Given the description of an element on the screen output the (x, y) to click on. 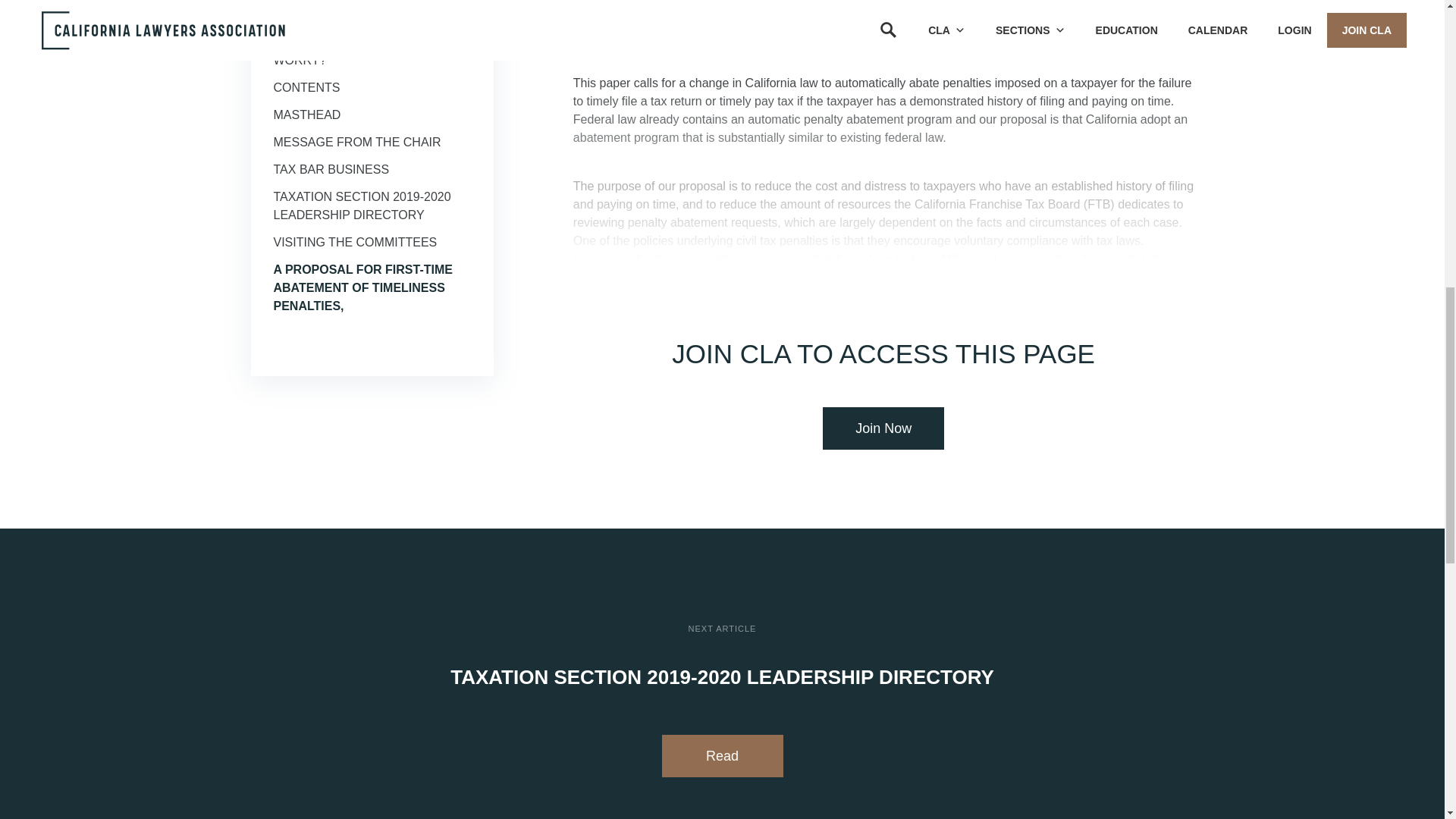
Contents (306, 87)
Read: Taxation Section 2019-2020 Leadership Directory (722, 755)
Taxation Section 2019-2020 Leadership Directory (361, 205)
Join Now (882, 428)
Message from the Chair (357, 141)
A Proposal for First-Time Abatement of Timeliness Penalties, (362, 287)
Visiting the Committees (354, 241)
Masthead (306, 114)
Tax Bar Business (330, 169)
